Given the description of an element on the screen output the (x, y) to click on. 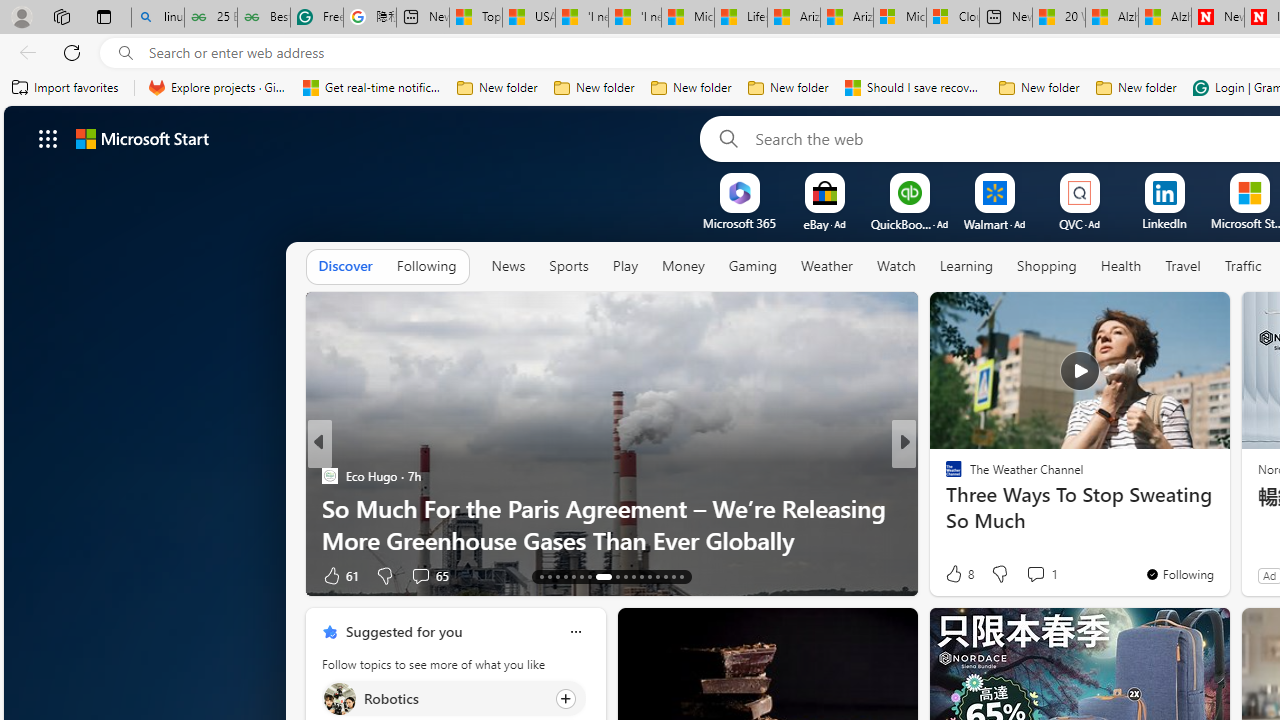
View comments 3 Comment (1048, 574)
Free AI Writing Assistance for Students | Grammarly (316, 17)
USA TODAY - MSN (529, 17)
linux basic - Search (157, 17)
AutomationID: tab-19 (588, 576)
You're following The Weather Channel (1179, 573)
Microsoft start (142, 138)
New folder (1136, 88)
